Given the description of an element on the screen output the (x, y) to click on. 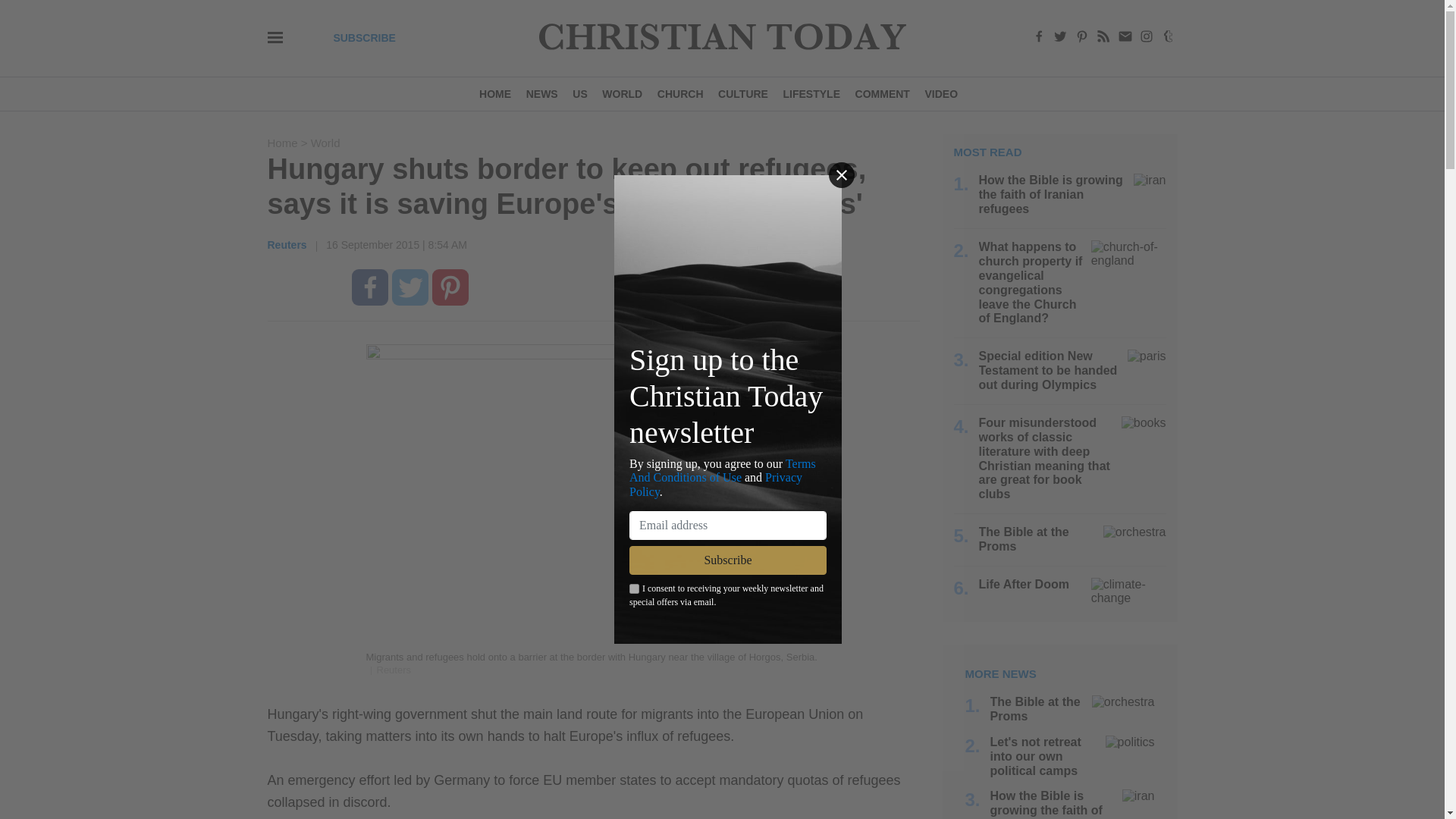
NEWS (542, 93)
SUBSCRIBE (363, 37)
WORLD (622, 93)
on (633, 588)
COMMENT (882, 93)
Home (282, 142)
VIDEO (941, 93)
Subscribe (727, 560)
CULTURE (742, 93)
CHURCH (679, 93)
HOME (498, 93)
LIFESTYLE (811, 93)
